Given the description of an element on the screen output the (x, y) to click on. 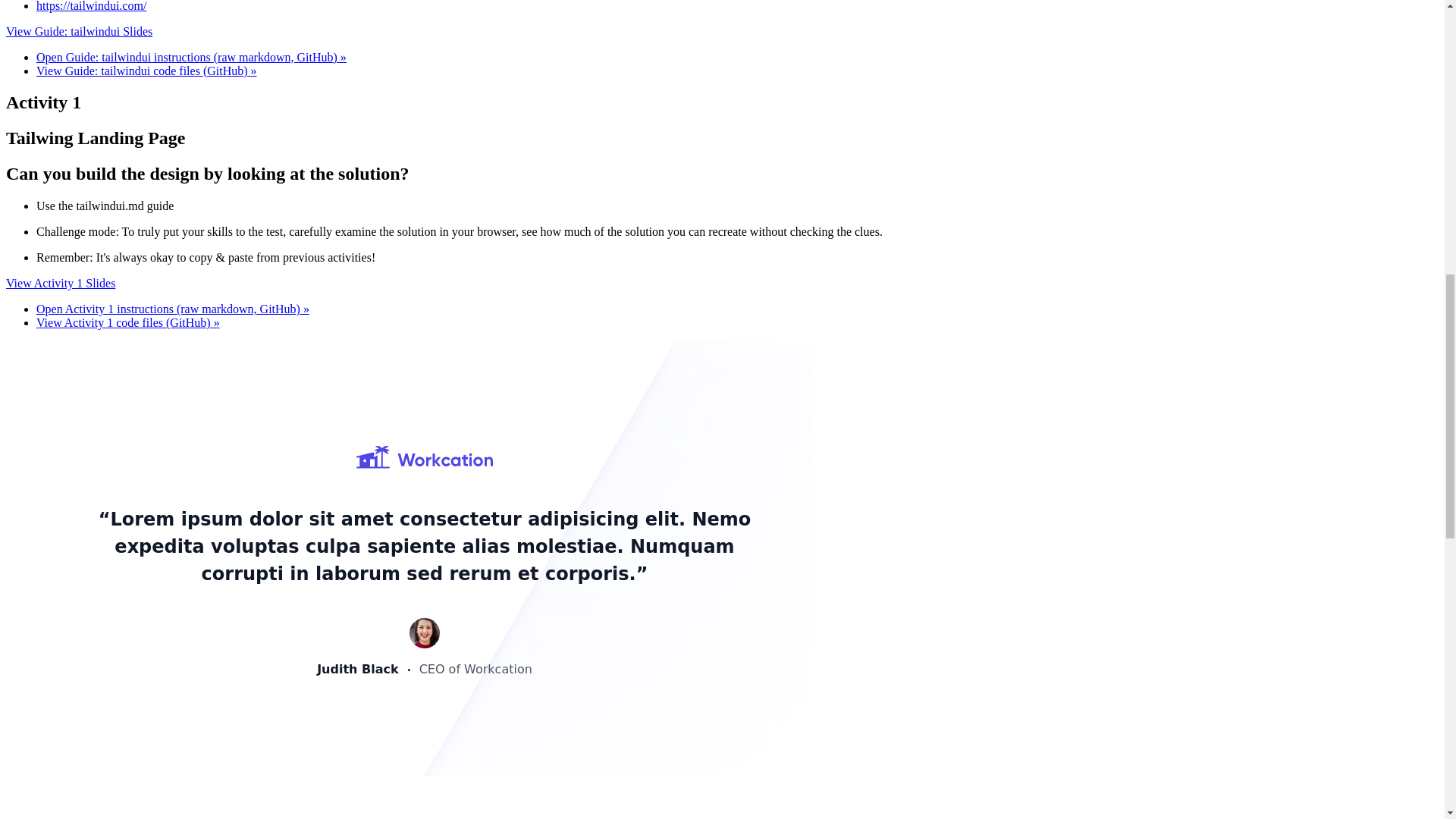
View Guide: tailwindui Slides (78, 31)
View Activity 1 Slides (60, 282)
